Given the description of an element on the screen output the (x, y) to click on. 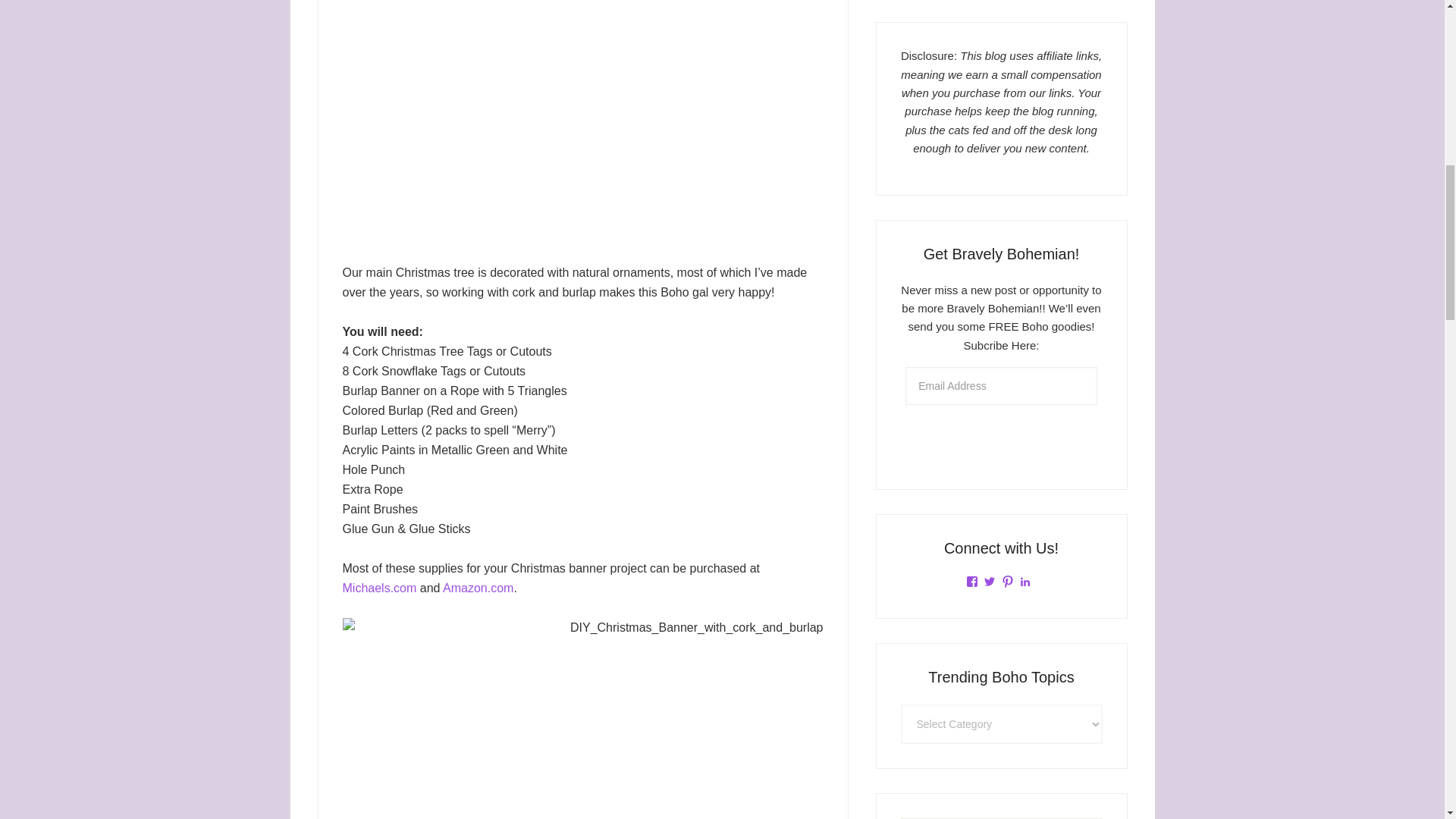
Amazon.com (477, 587)
Michaels.com (379, 587)
